Given the description of an element on the screen output the (x, y) to click on. 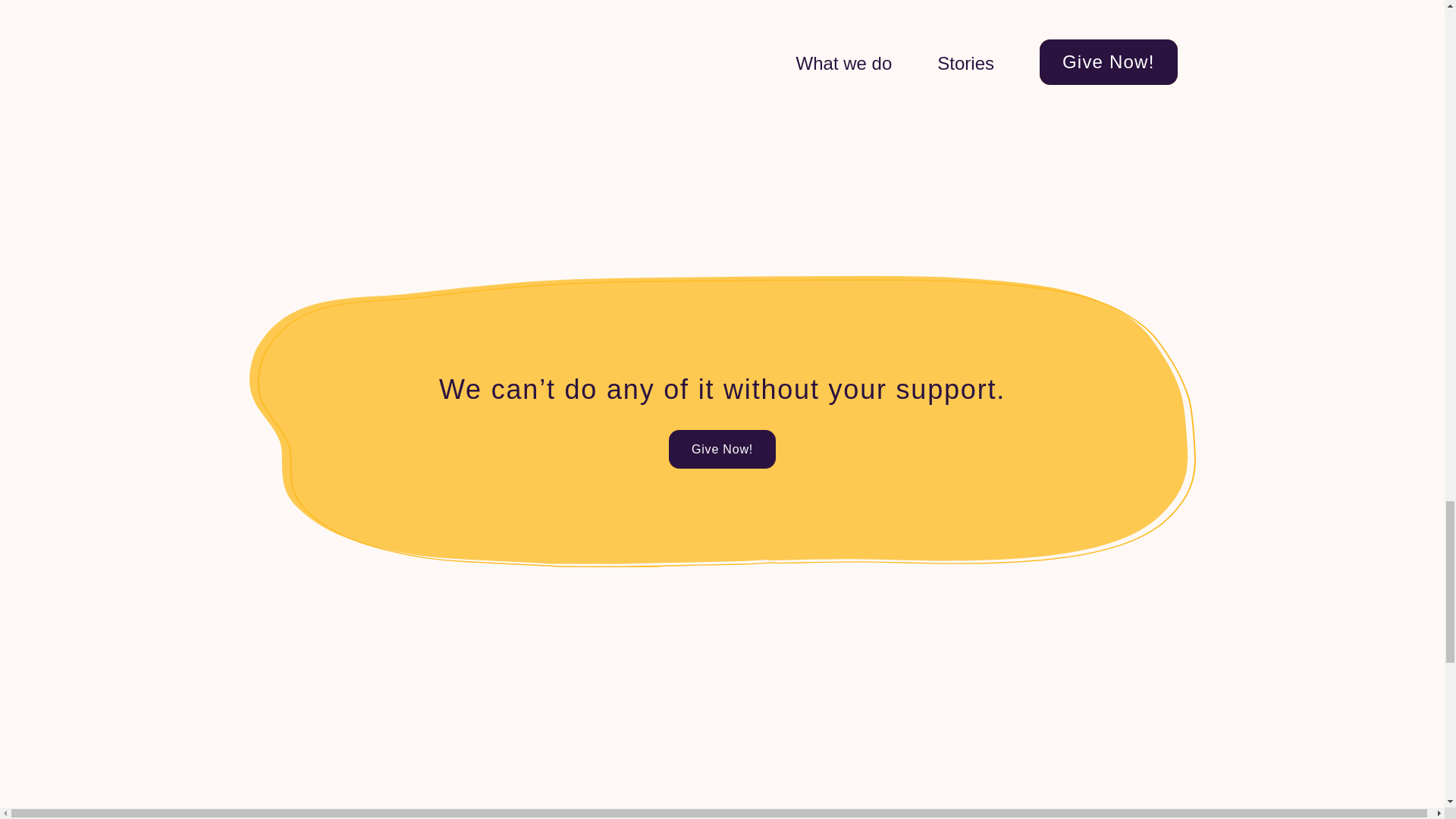
Give Now! (722, 448)
